Given the description of an element on the screen output the (x, y) to click on. 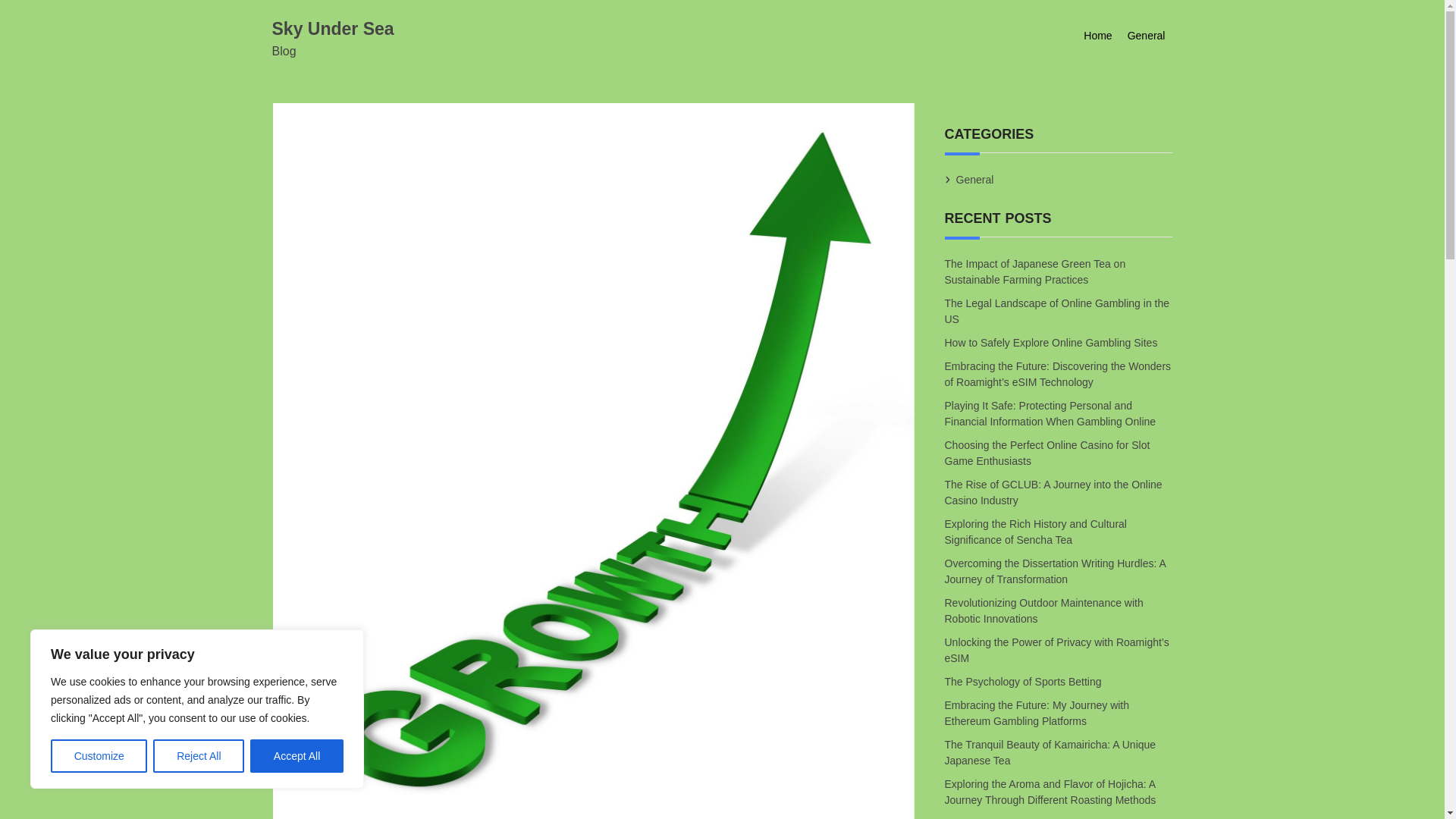
How to Safely Explore Online Gambling Sites (1051, 343)
Choosing the Perfect Online Casino for Slot Game Enthusiasts (1047, 453)
The Rise of GCLUB: A Journey into the Online Casino Industry (1052, 492)
Customize (98, 756)
General (1146, 35)
Sky Under Sea (331, 28)
Accept All (296, 756)
The Legal Landscape of Online Gambling in the US (1057, 311)
Home (1097, 35)
General (974, 179)
Reject All (198, 756)
